Given the description of an element on the screen output the (x, y) to click on. 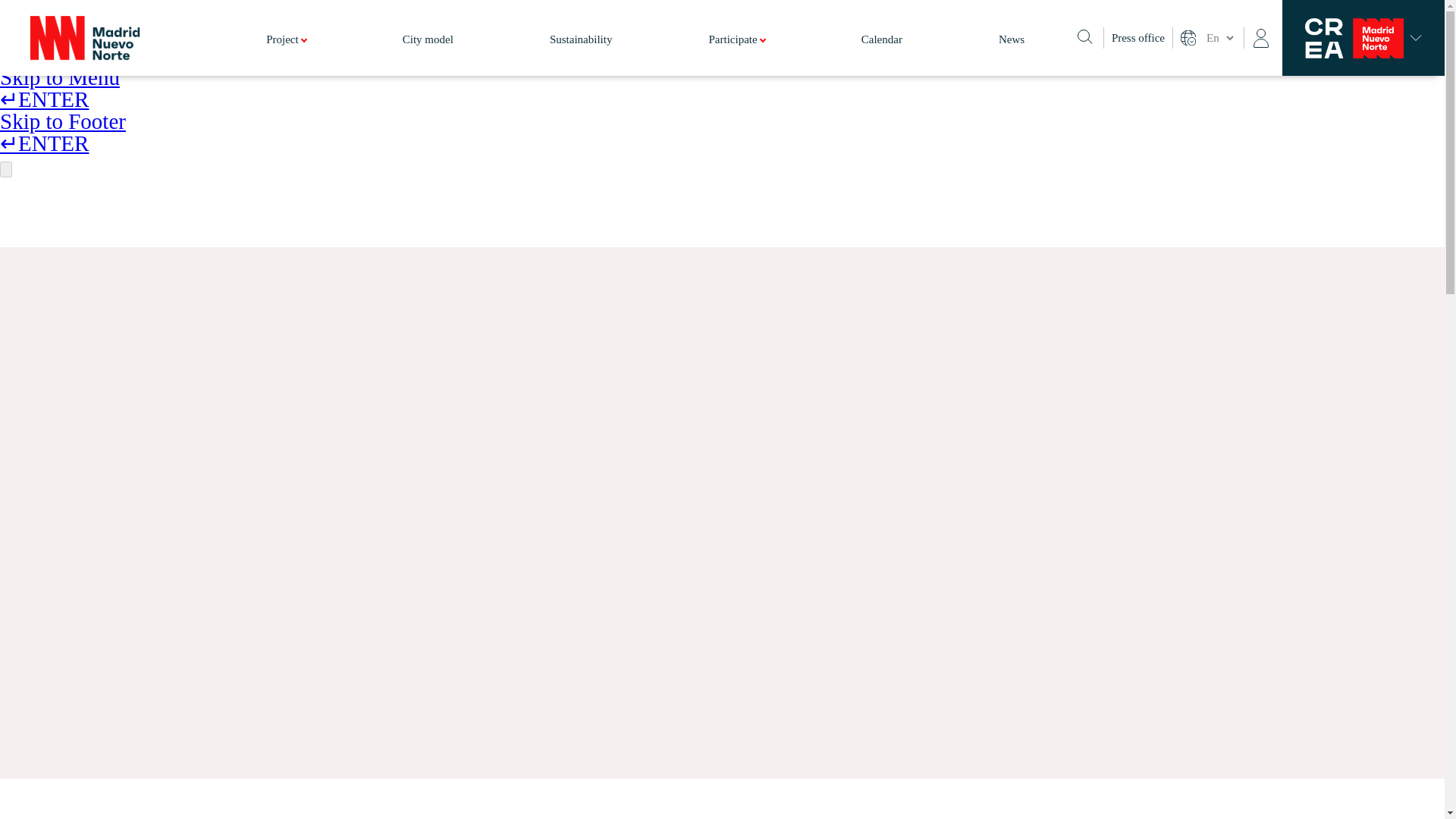
Participate (737, 54)
Calendar (881, 54)
Sustainability (581, 54)
Project (285, 54)
City model (427, 54)
Press office (1138, 37)
